Given the description of an element on the screen output the (x, y) to click on. 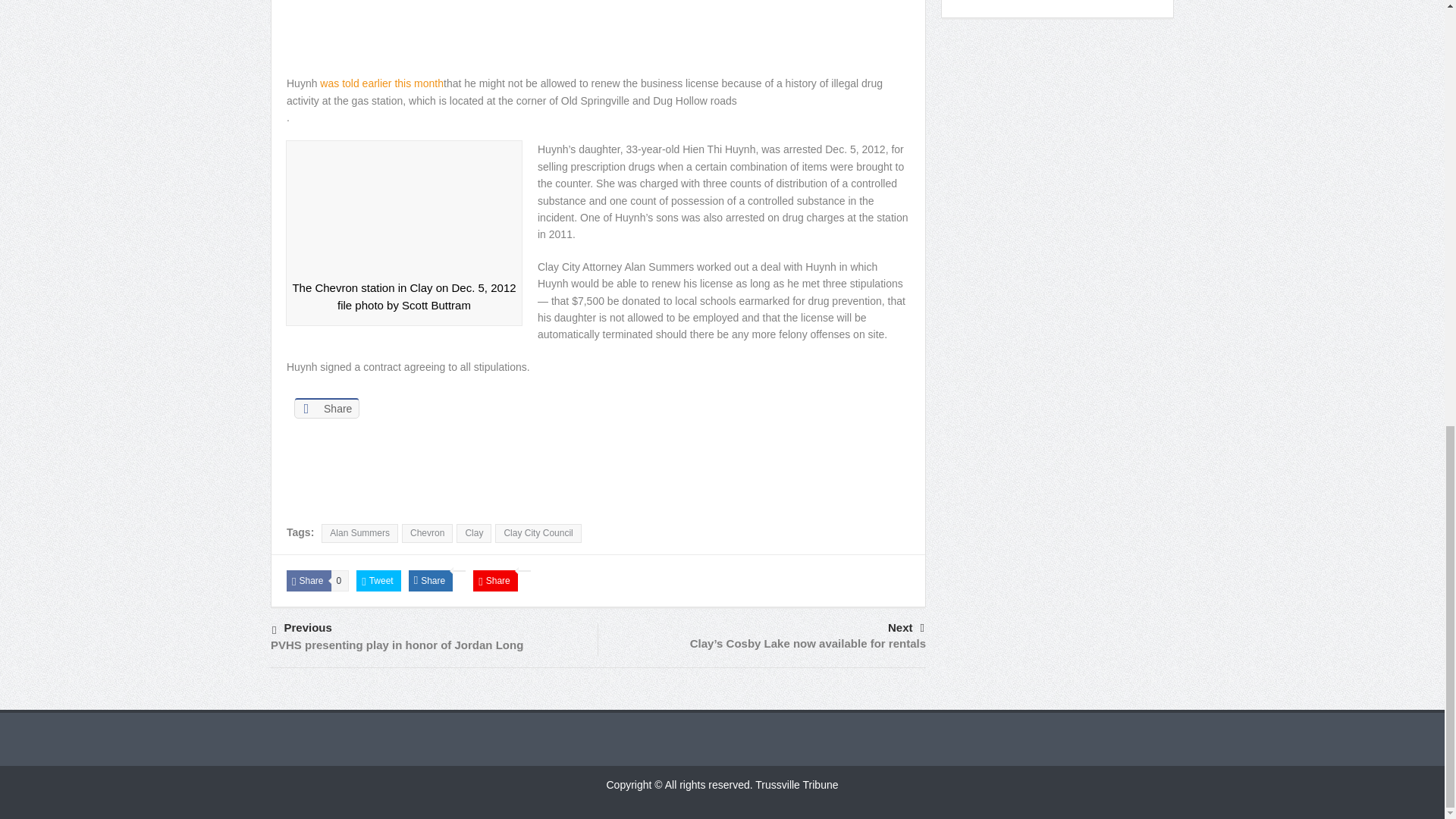
Share on Facebook (326, 408)
